Given the description of an element on the screen output the (x, y) to click on. 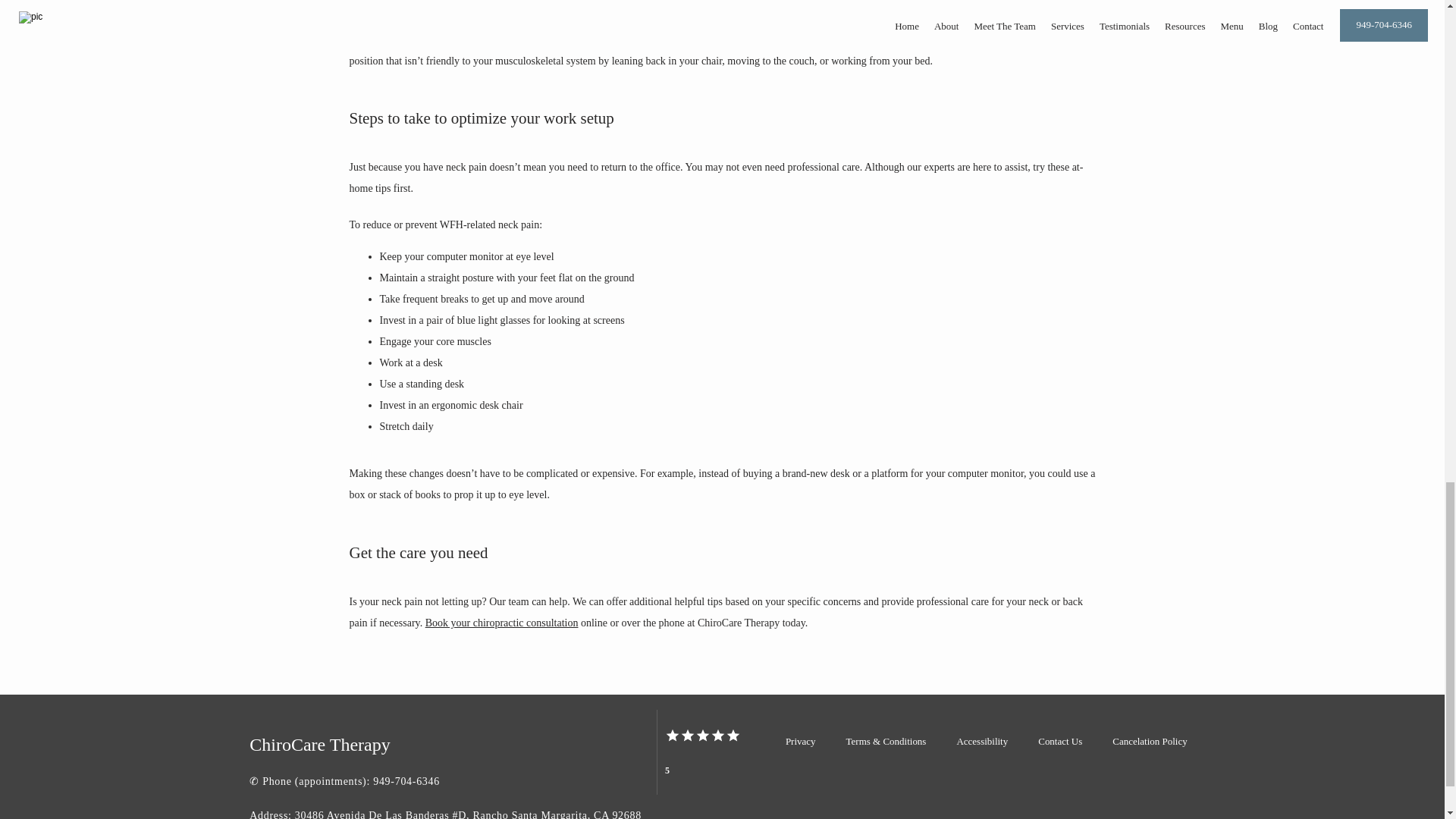
Accessibility (981, 740)
Privacy (800, 740)
Book your chiropractic consultation (501, 622)
Contact Us (1059, 740)
